Given the description of an element on the screen output the (x, y) to click on. 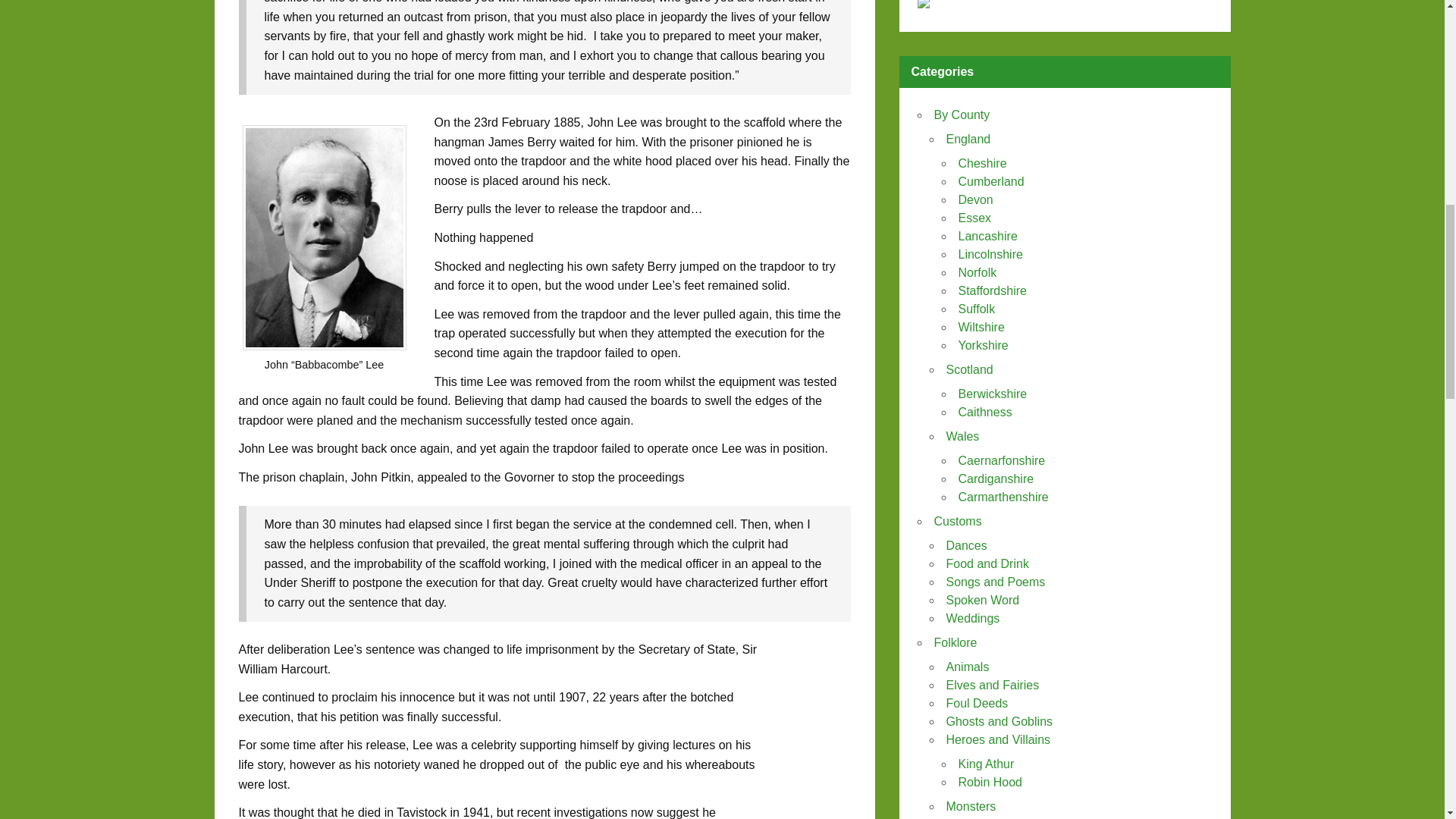
Lincolnshire (990, 254)
Staffordshire (992, 290)
England (968, 138)
Wiltshire (981, 327)
By County (962, 114)
Lancashire (987, 236)
Devon (975, 199)
Suffolk (976, 308)
Caithness (984, 411)
Essex (974, 217)
